Given the description of an element on the screen output the (x, y) to click on. 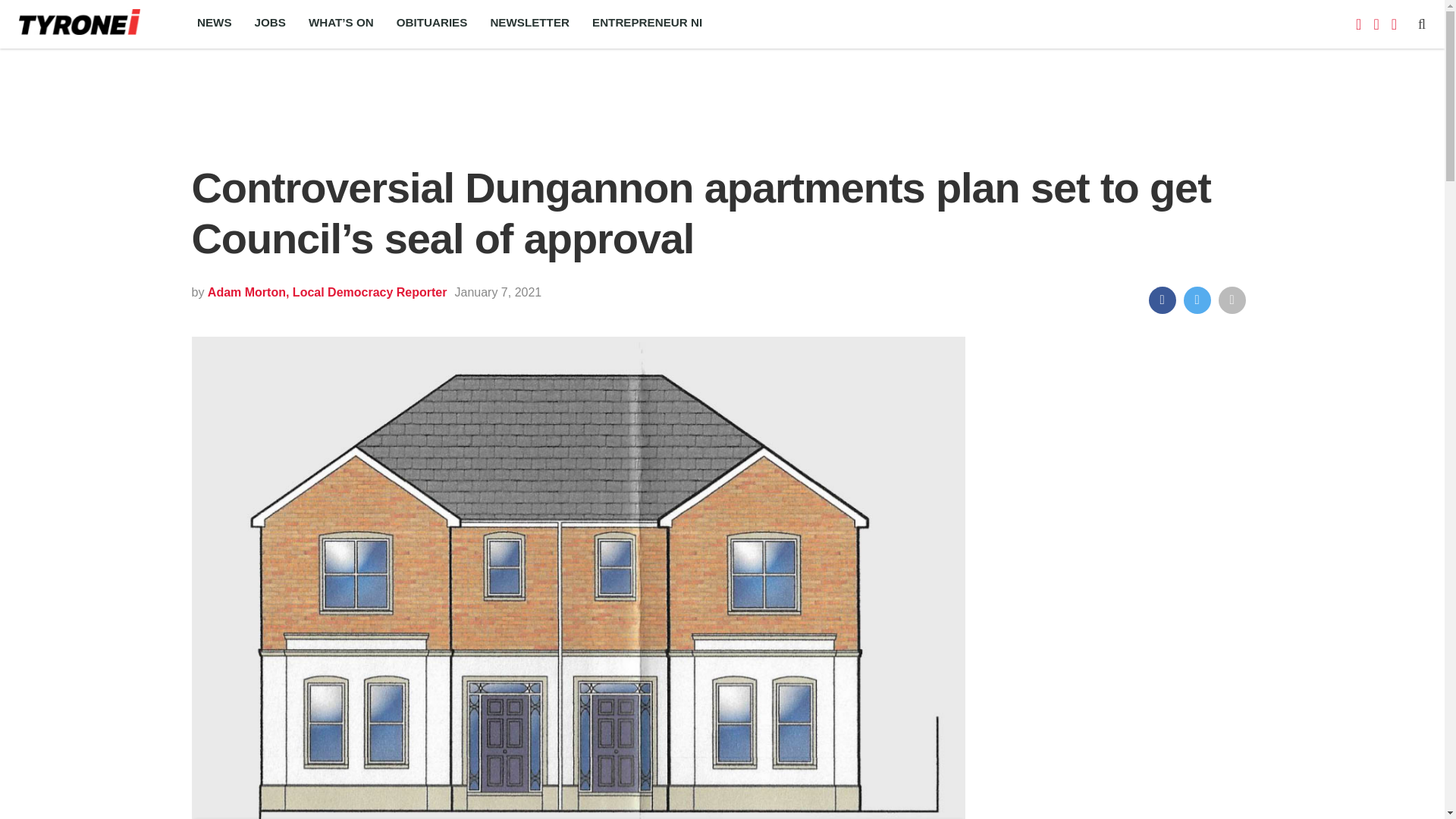
JOBS (270, 24)
ENTREPRENEUR NI (646, 24)
Posts by Adam Morton, Local Democracy Reporter (327, 291)
OBITUARIES (432, 24)
NEWSLETTER (529, 24)
Adam Morton, Local Democracy Reporter (327, 291)
NEWS (214, 24)
